Given the description of an element on the screen output the (x, y) to click on. 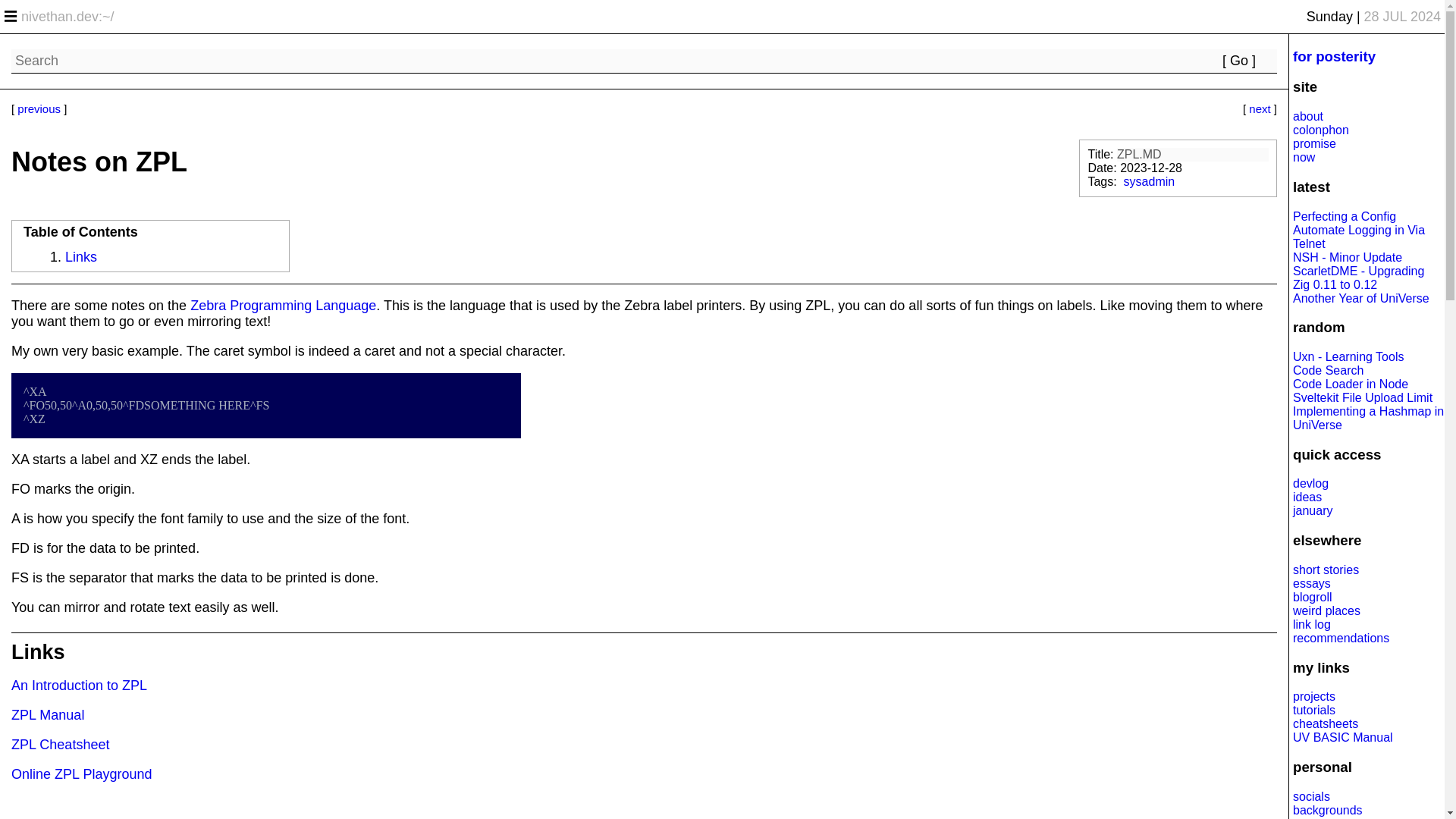
Sveltekit File Upload Limit (1362, 397)
ideas (1307, 496)
Uxn - Learning Tools (1347, 356)
projects (1313, 696)
short stories (1325, 569)
ZPL Manual (47, 714)
recommendations (1340, 637)
Perfecting a Config (1344, 215)
ZPL.MD (1192, 154)
next (1259, 108)
Online ZPL Playground (81, 774)
Links (81, 256)
Code Loader in Node (1349, 383)
cheatsheets (1325, 723)
promise (1314, 143)
